Given the description of an element on the screen output the (x, y) to click on. 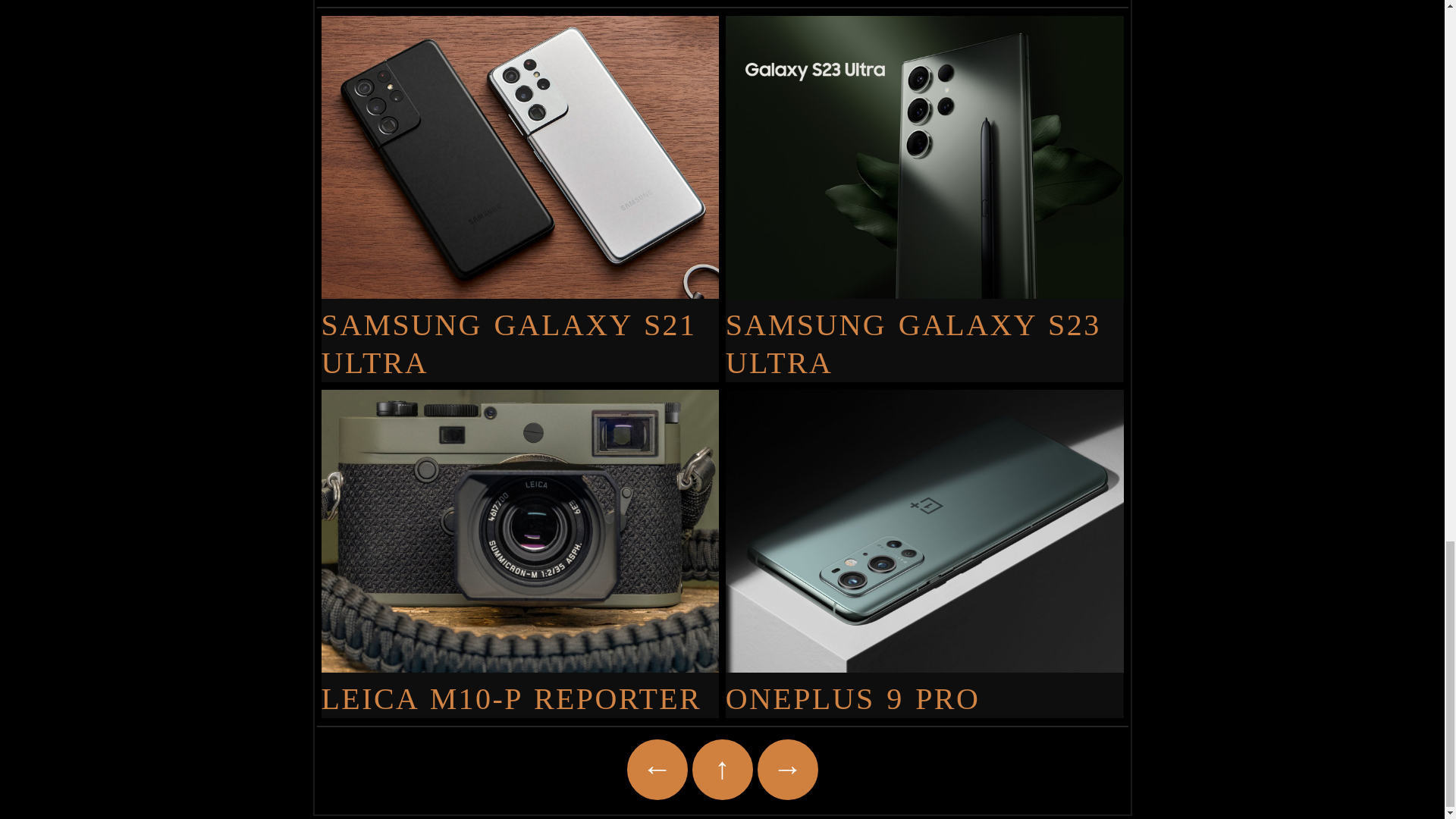
Leica M10-P Reporter (520, 688)
LEICA M10-P REPORTER (520, 688)
ONEPLUS 9 PRO (924, 688)
OnePlus 9 Pro (924, 688)
Samsung Galaxy S21 Ultra (520, 333)
Samsung Galaxy S23 Ultra (924, 333)
SAMSUNG GALAXY S21 ULTRA (520, 333)
SAMSUNG GALAXY S23 ULTRA (924, 333)
